Given the description of an element on the screen output the (x, y) to click on. 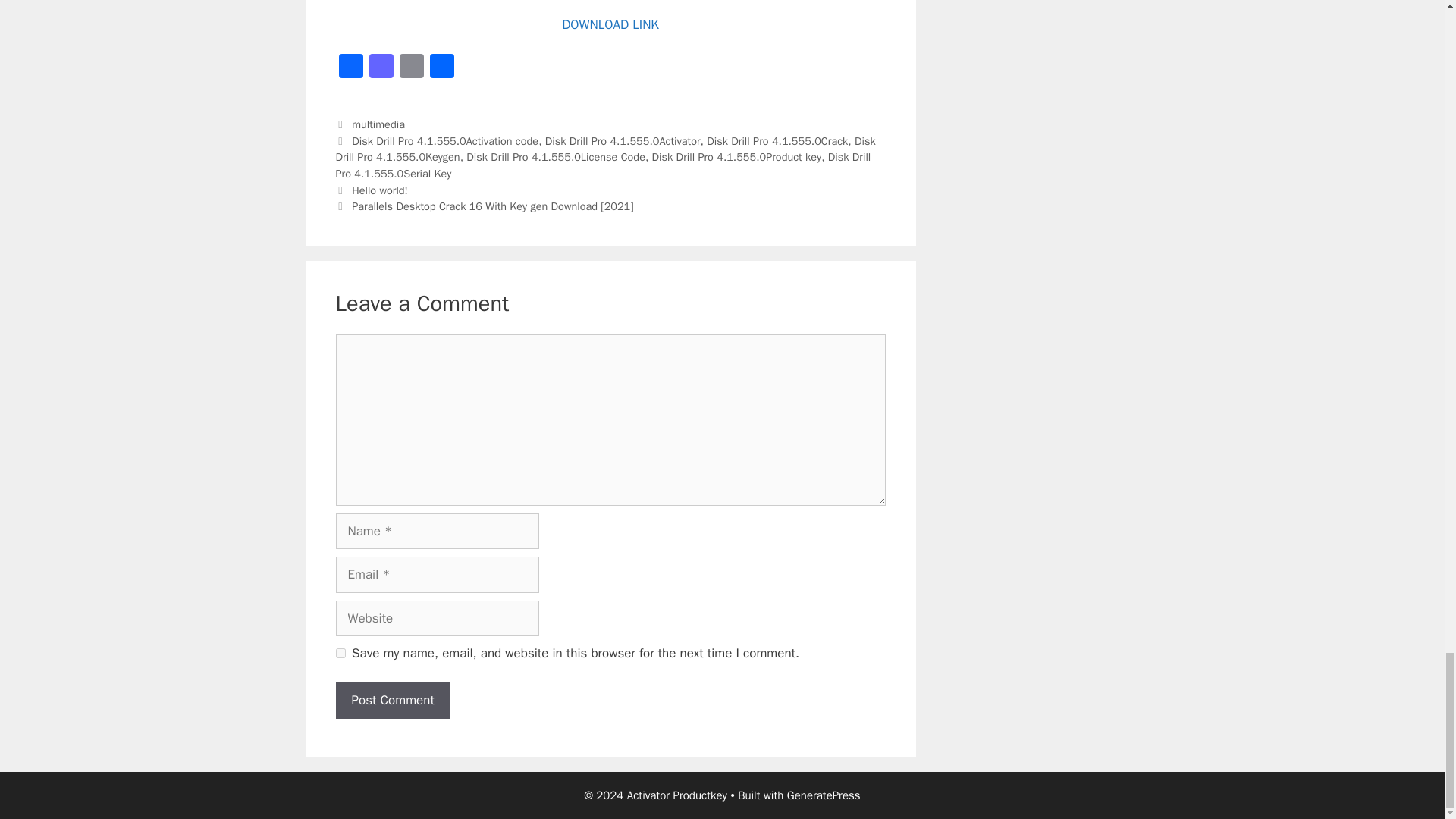
Share (441, 68)
Hello world! (379, 190)
Disk Drill Pro 4.1.555.0Crack (776, 141)
DOWNLOAD LINK (610, 24)
Email (411, 68)
Facebook (349, 68)
Post Comment (391, 700)
Mastodon (380, 68)
Disk Drill Pro 4.1.555.0Keygen (604, 149)
Mastodon (380, 68)
Disk Drill Pro 4.1.555.0Product key (737, 156)
multimedia (378, 124)
Disk Drill Pro 4.1.555.0Activator (622, 141)
Disk Drill Pro 4.1.555.0Serial Key (602, 164)
Facebook (349, 68)
